Given the description of an element on the screen output the (x, y) to click on. 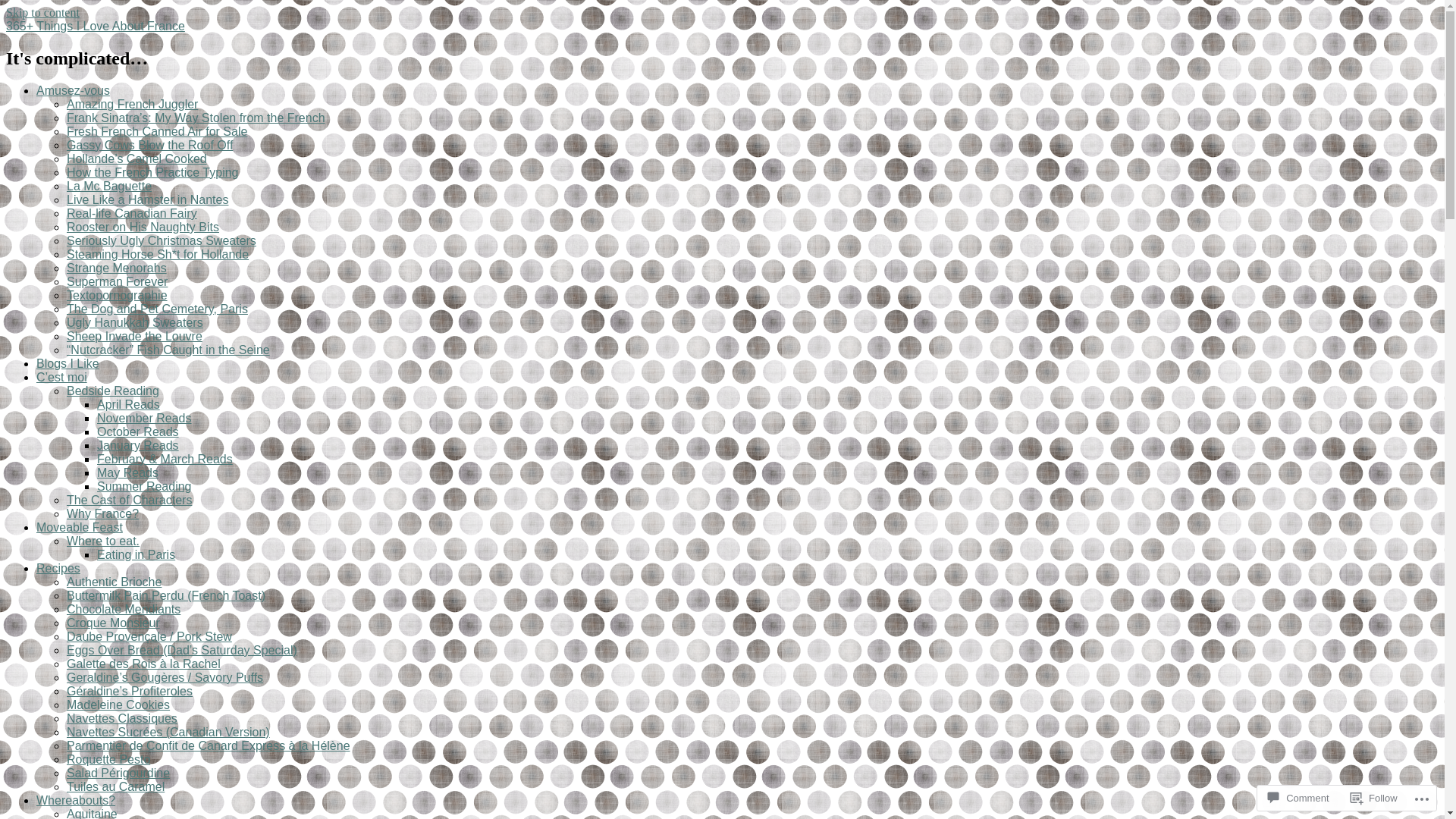
The Cast of Characters Element type: text (128, 499)
The Dog and Pet Cemetery, Paris Element type: text (156, 308)
Eating in Paris Element type: text (136, 554)
Gassy Cows Blow the Roof Off Element type: text (149, 144)
November Reads Element type: text (144, 417)
Rooster on His Naughty Bits Element type: text (142, 226)
Why France? Element type: text (102, 513)
Steaming Horse Sh*t for Hollande Element type: text (157, 253)
Roquette Pesto Element type: text (108, 759)
Moveable Feast Element type: text (79, 526)
Summer Reading Element type: text (144, 486)
La Mc Baguette Element type: text (108, 185)
Madeleine Cookies Element type: text (117, 704)
Where to eat. Element type: text (102, 540)
February & March Reads Element type: text (164, 458)
Superman Forever Element type: text (116, 281)
Recipes Element type: text (58, 567)
Textopornographie Element type: text (116, 294)
Live Like a Hamster in Nantes Element type: text (147, 199)
365+ Things I Love About France Element type: text (95, 25)
Navettes Classiques Element type: text (121, 718)
Authentic Brioche Element type: text (113, 581)
Follow Element type: text (1373, 797)
Skip to content Element type: text (42, 12)
How the French Practice Typing Element type: text (152, 172)
Sheep Invade the Louvre Element type: text (134, 335)
Chocolate Mendiants Element type: text (123, 608)
Seriously Ugly Christmas Sweaters Element type: text (161, 240)
April Reads Element type: text (128, 404)
Amazing French Juggler Element type: text (131, 103)
Fresh French Canned Air for Sale Element type: text (156, 131)
October Reads Element type: text (137, 431)
Comment Element type: text (1297, 797)
Amusez-vous Element type: text (72, 90)
Croque Monsieur Element type: text (113, 622)
Buttermilk Pain Perdu (French Toast) Element type: text (165, 595)
Tuiles au Caramel Element type: text (115, 786)
January Reads Element type: text (137, 445)
Real-life Canadian Fairy Element type: text (131, 213)
Blogs I Like Element type: text (67, 363)
Ugly Hanukkah Sweaters Element type: text (134, 322)
May Reads Element type: text (127, 472)
Bedside Reading Element type: text (112, 390)
Whereabouts? Element type: text (75, 799)
Strange Menorahs Element type: text (116, 267)
